Given the description of an element on the screen output the (x, y) to click on. 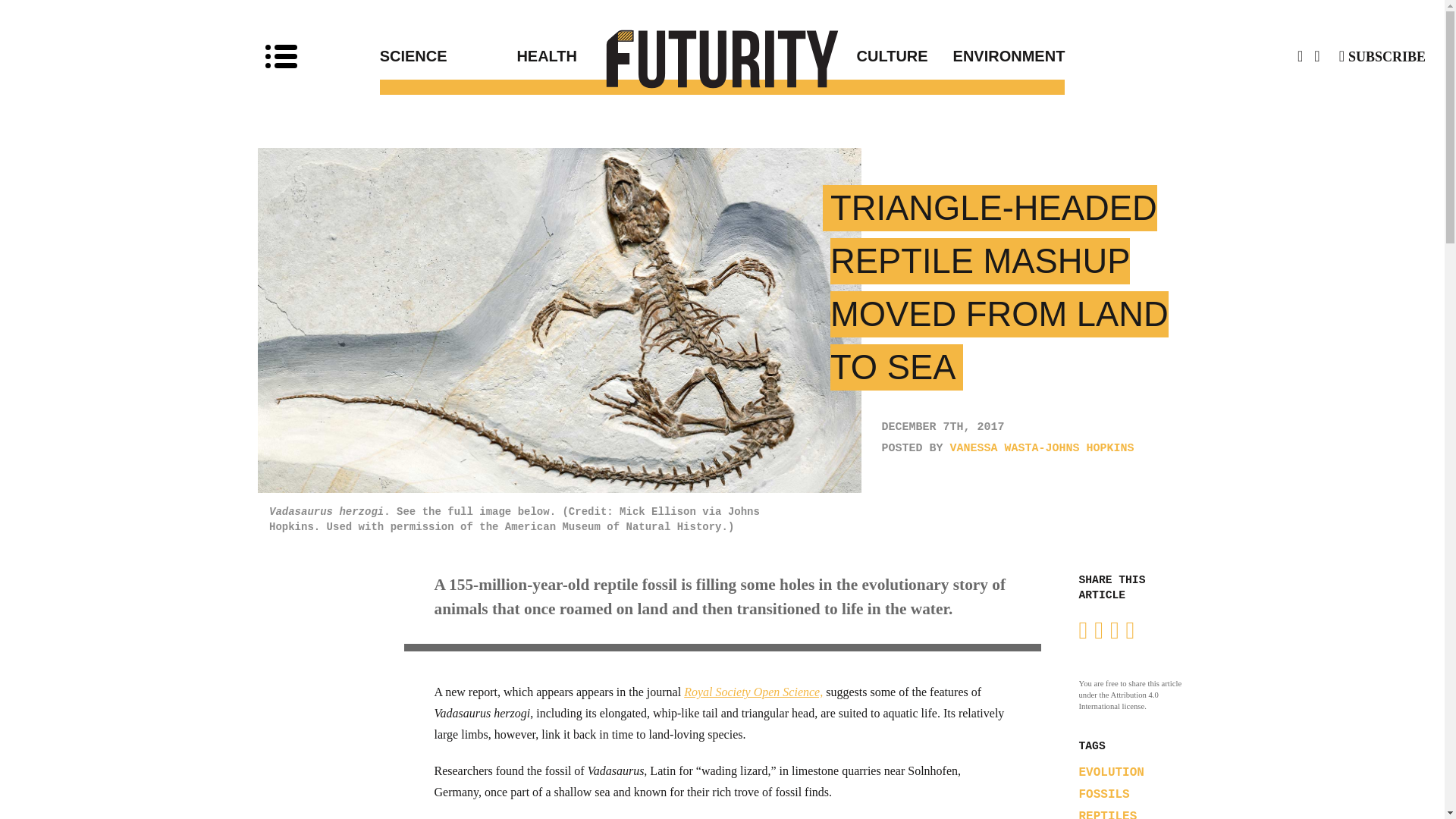
Environment (996, 55)
Culture (824, 55)
Science (448, 55)
ENVIRONMENT (996, 55)
SCIENCE (448, 55)
HEALTH (619, 55)
Royal Society Open Science, (753, 691)
Health (619, 55)
FOSSILS (1103, 794)
CULTURE (824, 55)
